Given the description of an element on the screen output the (x, y) to click on. 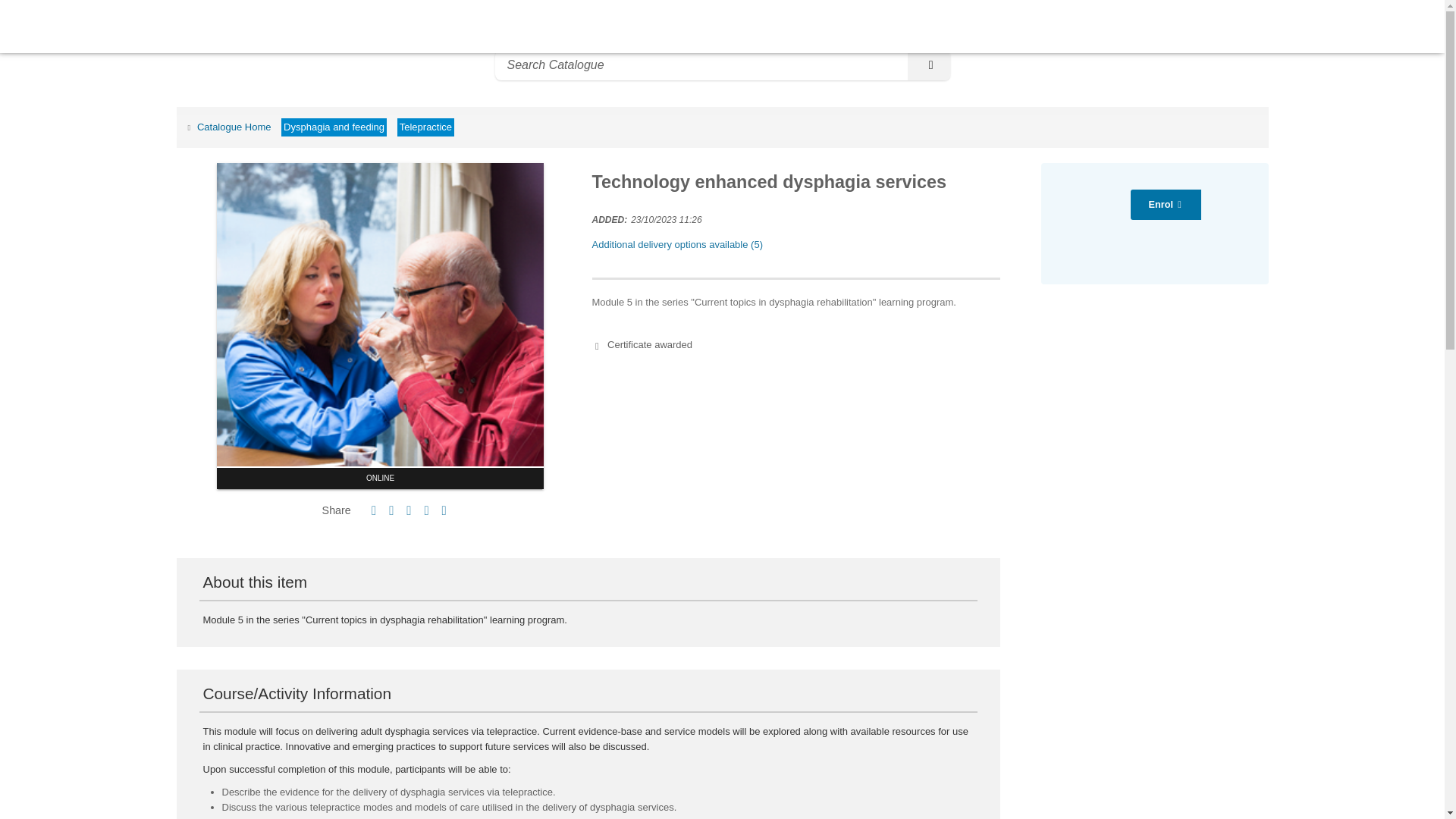
Home (41, 26)
Enrol (1166, 204)
Catalogue Home (226, 126)
Sign in (1418, 26)
Sign in (1418, 26)
Enrol (1166, 204)
